Given the description of an element on the screen output the (x, y) to click on. 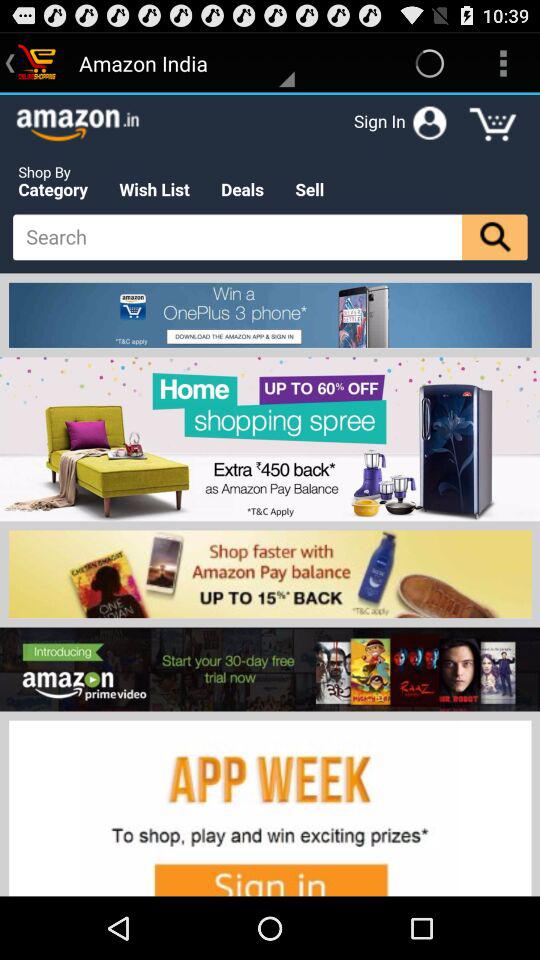
advertisement page (270, 495)
